Given the description of an element on the screen output the (x, y) to click on. 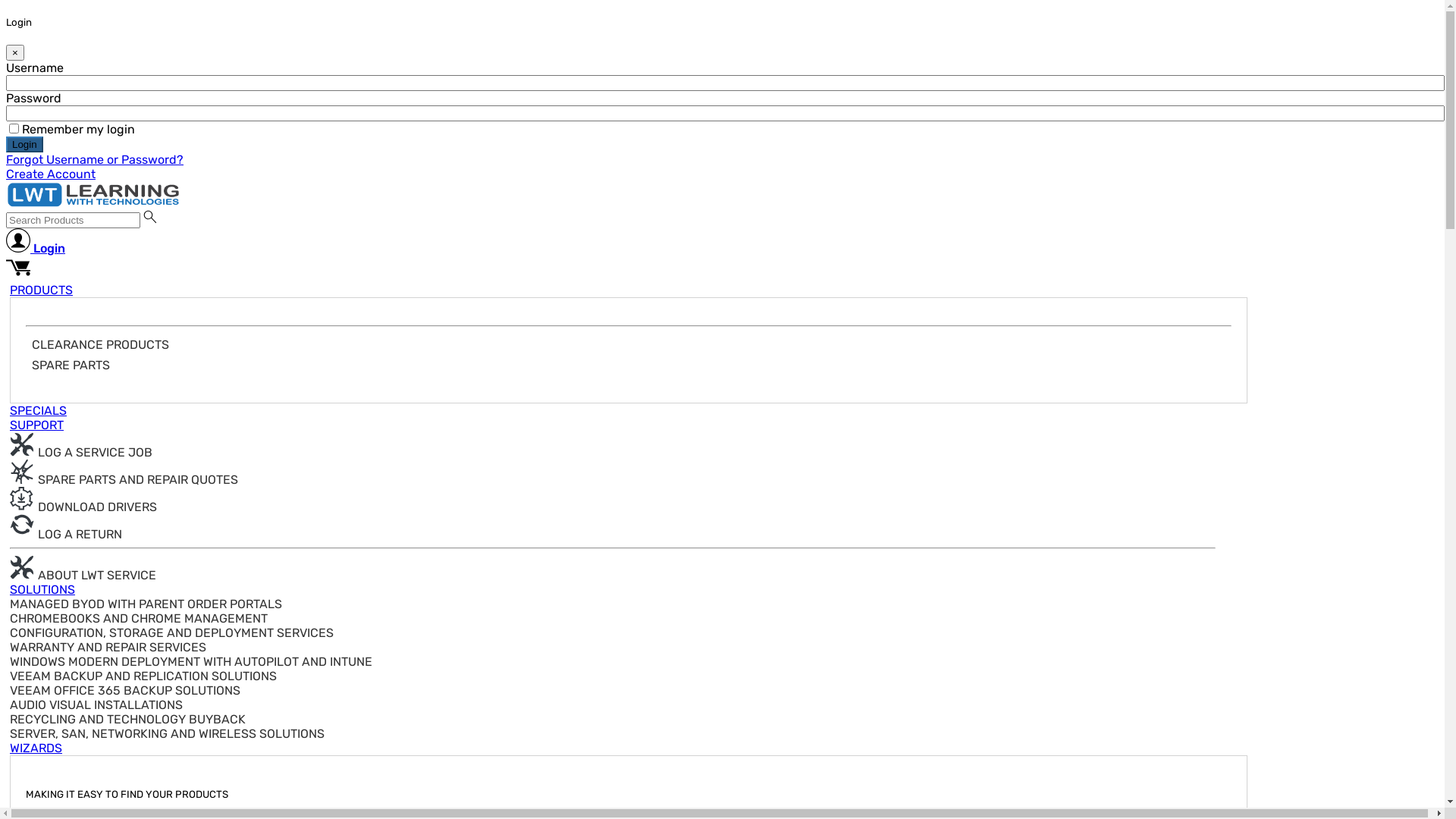
SPARE PARTS Element type: text (70, 364)
VEEAM OFFICE 365 BACKUP SOLUTIONS Element type: text (124, 690)
CLEARANCE PRODUCTS Element type: text (100, 344)
Create Account Element type: text (50, 173)
ABOUT LWT SERVICE Element type: text (82, 574)
SERVER, SAN, NETWORKING AND WIRELESS SOLUTIONS Element type: text (166, 733)
SPECIALS Element type: text (37, 410)
SOLUTIONS Element type: text (42, 589)
VEEAM BACKUP AND REPLICATION SOLUTIONS Element type: text (142, 675)
LOG A RETURN Element type: text (65, 534)
Login Element type: text (35, 241)
CONFIGURATION, STORAGE AND DEPLOYMENT SERVICES Element type: text (171, 632)
WIZARDS Element type: text (35, 747)
RECYCLING AND TECHNOLOGY BUYBACK Element type: text (127, 719)
SUPPORT Element type: text (36, 424)
WINDOWS MODERN DEPLOYMENT WITH AUTOPILOT AND INTUNE Element type: text (190, 661)
AUDIO VISUAL INSTALLATIONS Element type: text (95, 704)
Login Element type: text (24, 144)
MANAGED BYOD WITH PARENT ORDER PORTALS Element type: text (145, 603)
Forgot Username or Password? Element type: text (94, 159)
CHROMEBOOKS AND CHROME MANAGEMENT Element type: text (138, 618)
LOG A SERVICE JOB Element type: text (80, 452)
SPARE PARTS AND REPAIR QUOTES Element type: text (123, 479)
WARRANTY AND REPAIR SERVICES Element type: text (107, 647)
PRODUCTS Element type: text (40, 289)
DOWNLOAD DRIVERS Element type: text (82, 506)
